Given the description of an element on the screen output the (x, y) to click on. 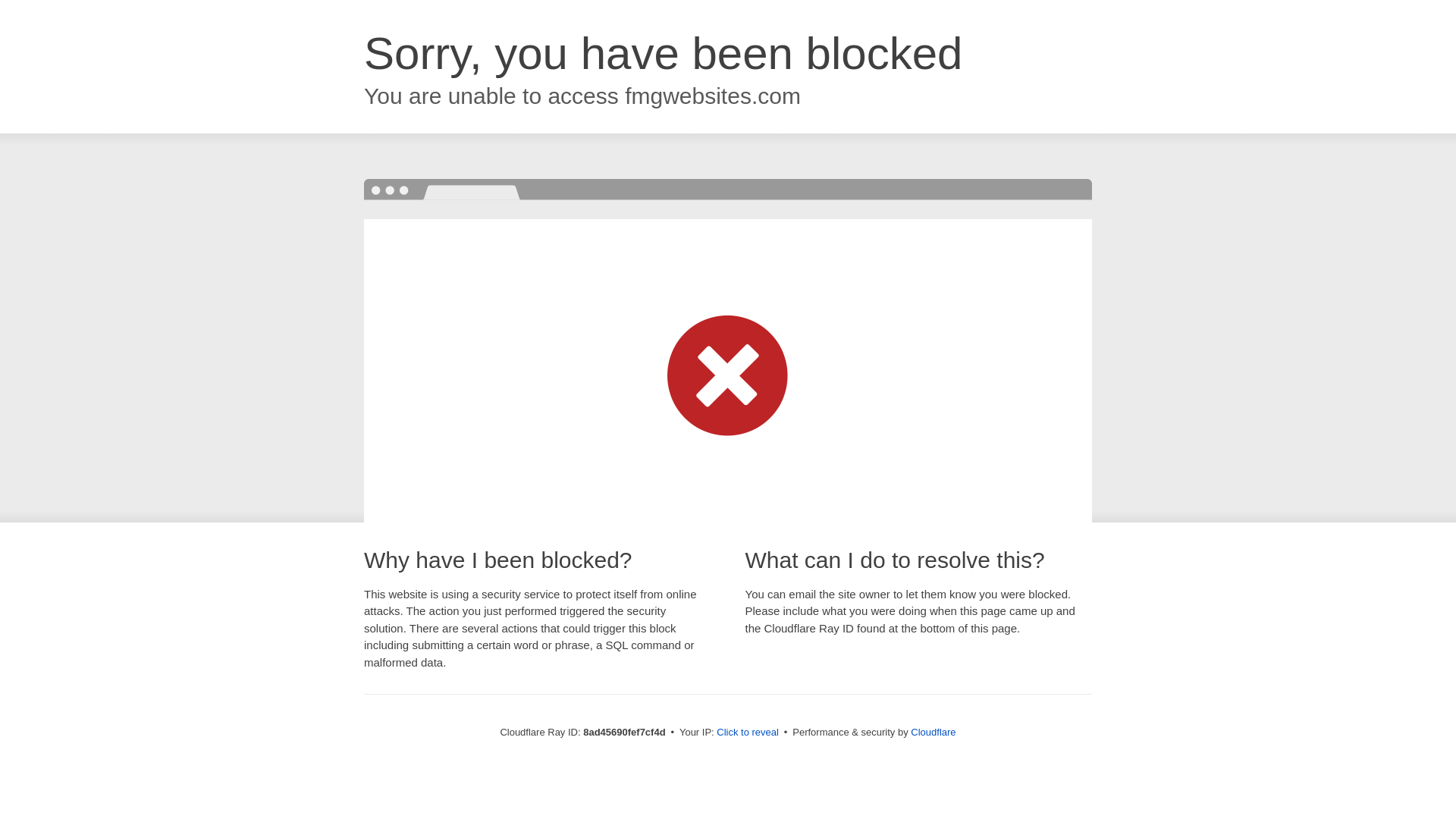
Cloudflare (933, 731)
Click to reveal (747, 732)
